Given the description of an element on the screen output the (x, y) to click on. 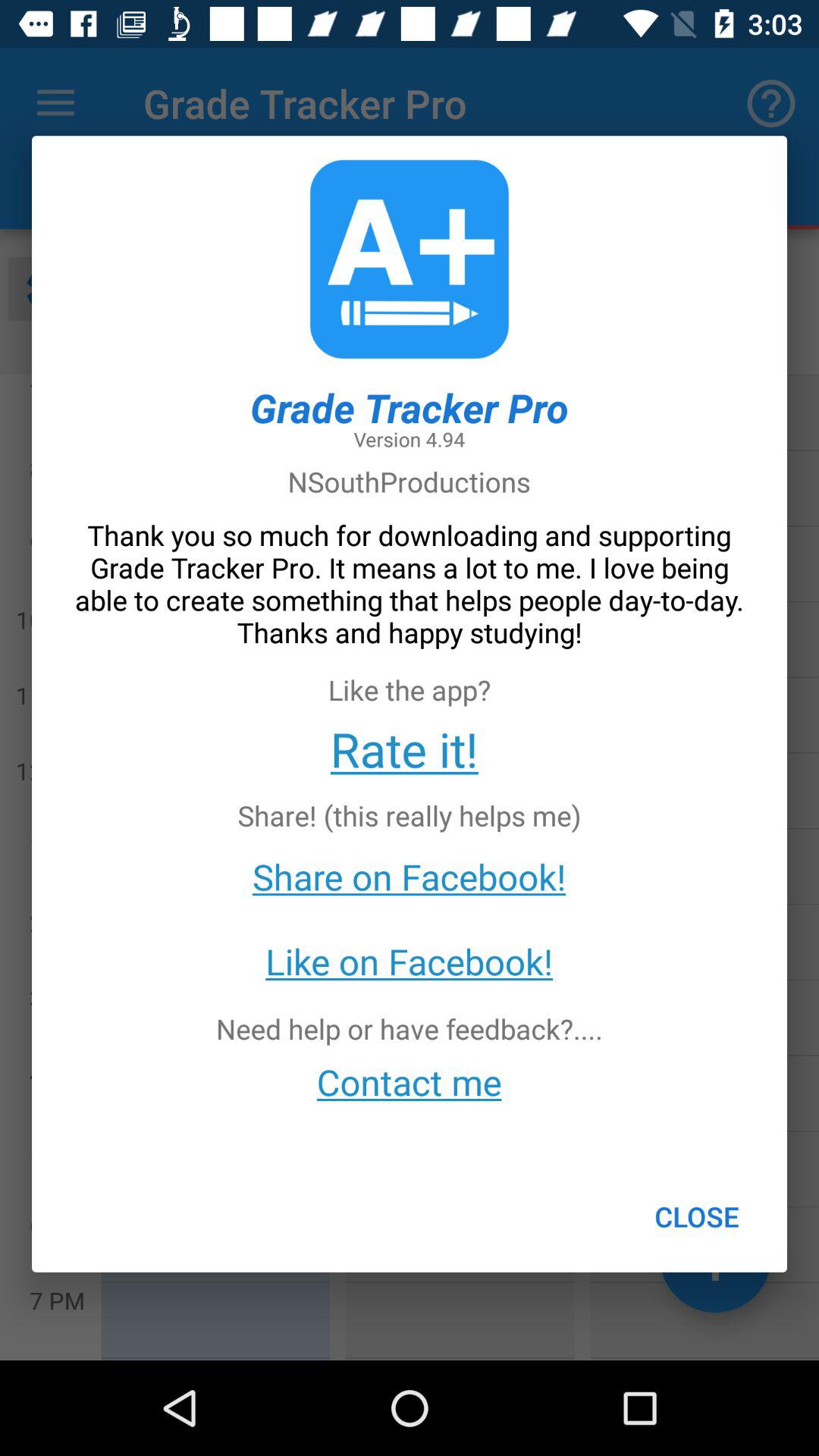
flip until the close icon (696, 1216)
